Given the description of an element on the screen output the (x, y) to click on. 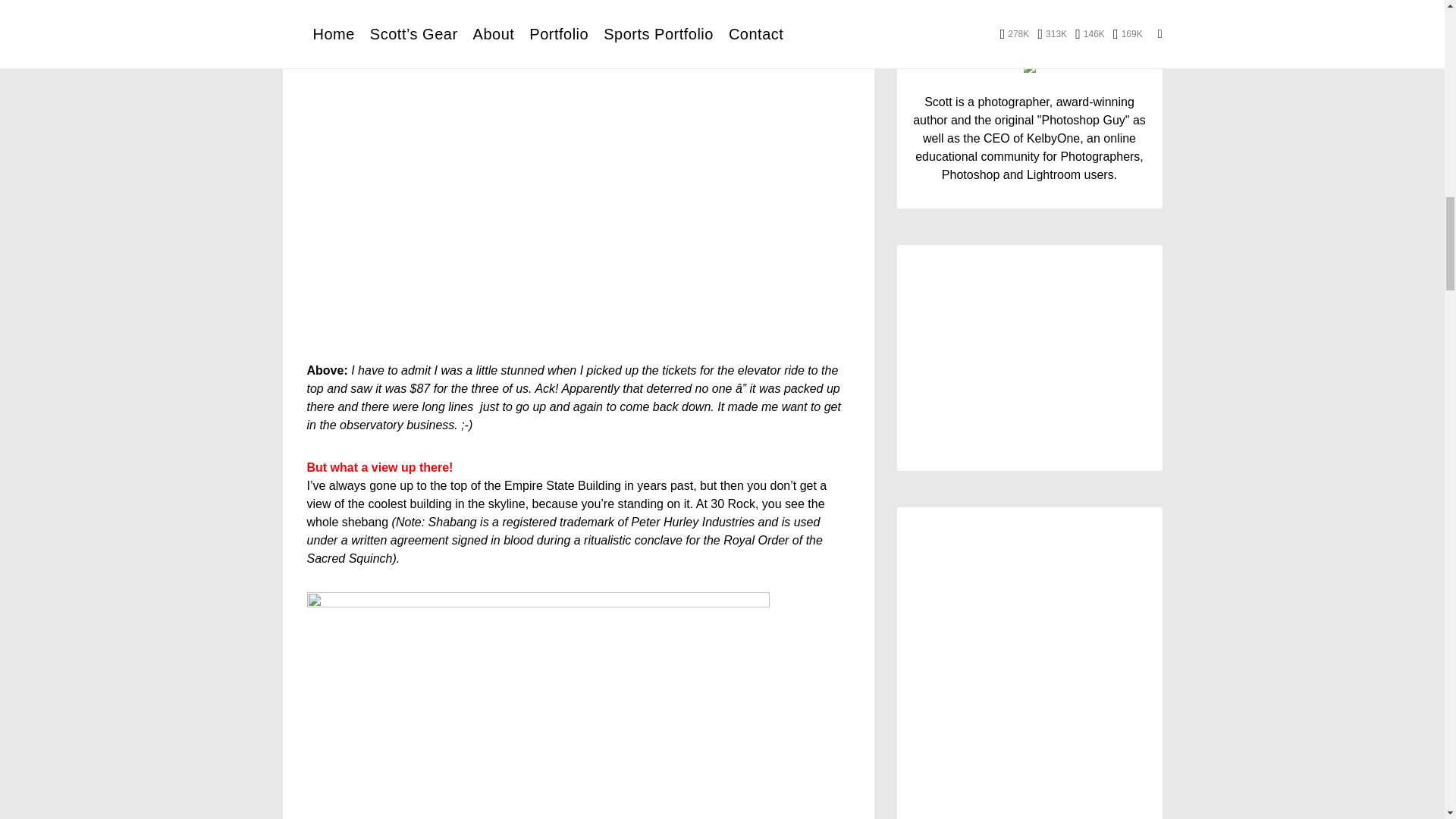
Wednesday (994, 341)
Friday (1063, 341)
Thursday (1029, 341)
Submit (1028, 706)
Sunday (1132, 341)
Monday (925, 341)
Saturday (1098, 341)
Tuesday (959, 341)
